Given the description of an element on the screen output the (x, y) to click on. 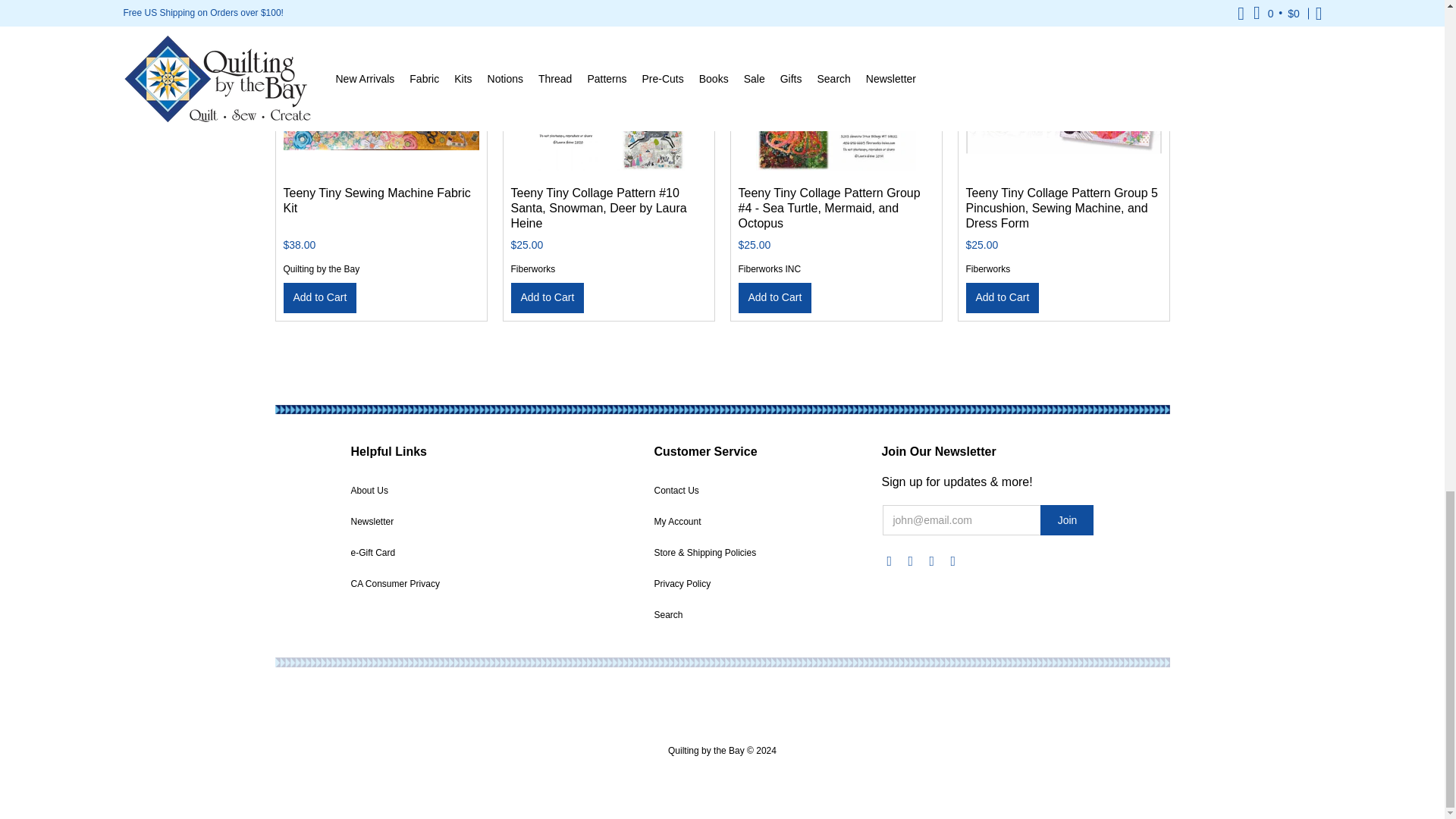
Join (1067, 520)
Add to Cart (1002, 296)
Add to Cart (775, 296)
Add to Cart (319, 296)
Add to Cart (548, 296)
